Given the description of an element on the screen output the (x, y) to click on. 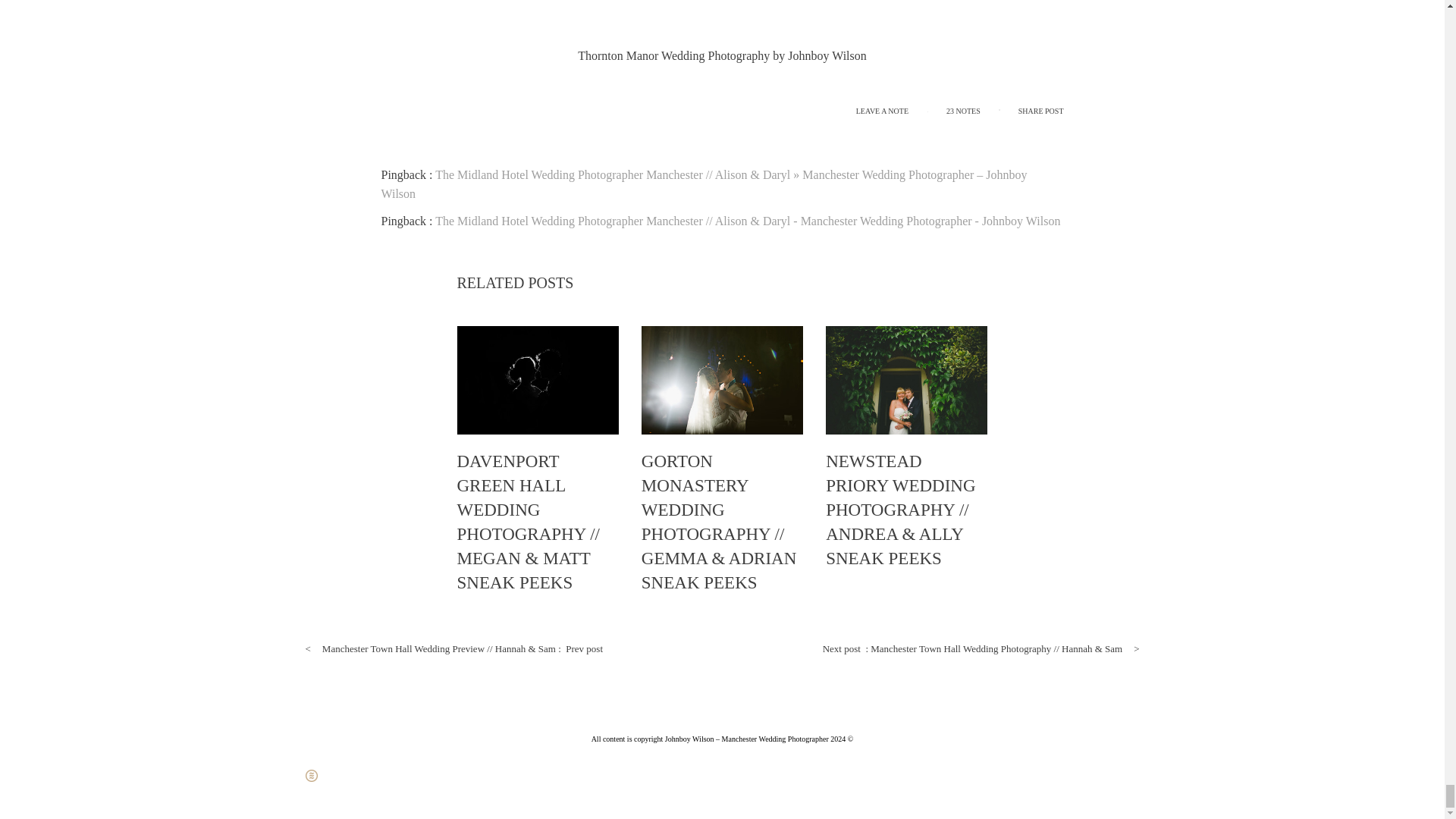
SHARE POST (1040, 111)
LEAVE A NOTE (882, 111)
RELATED POSTS (515, 281)
23 NOTES (962, 111)
